Given the description of an element on the screen output the (x, y) to click on. 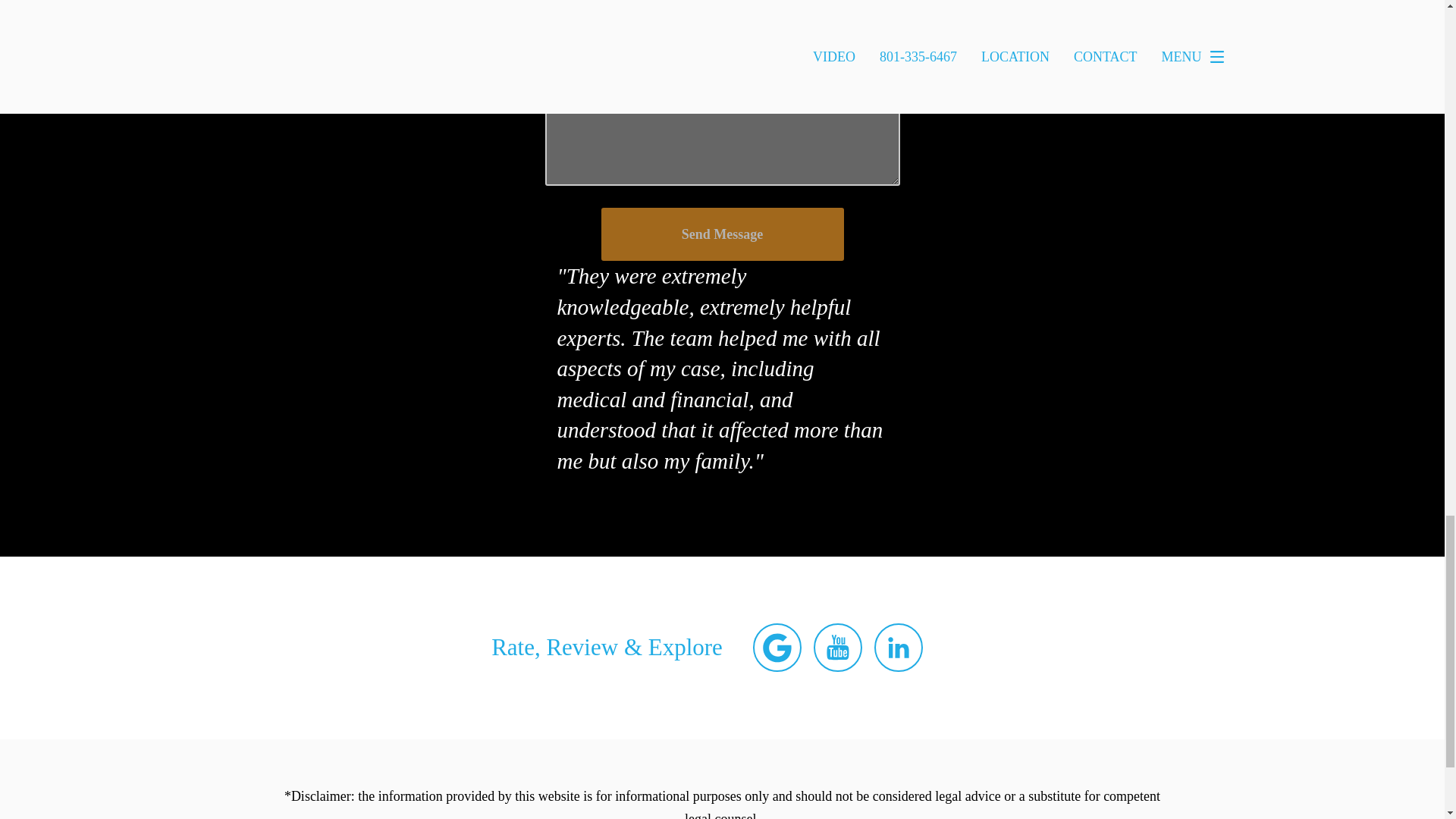
Send Message (721, 234)
YouTube (837, 647)
LinkedIn (899, 647)
Google (777, 647)
